Given the description of an element on the screen output the (x, y) to click on. 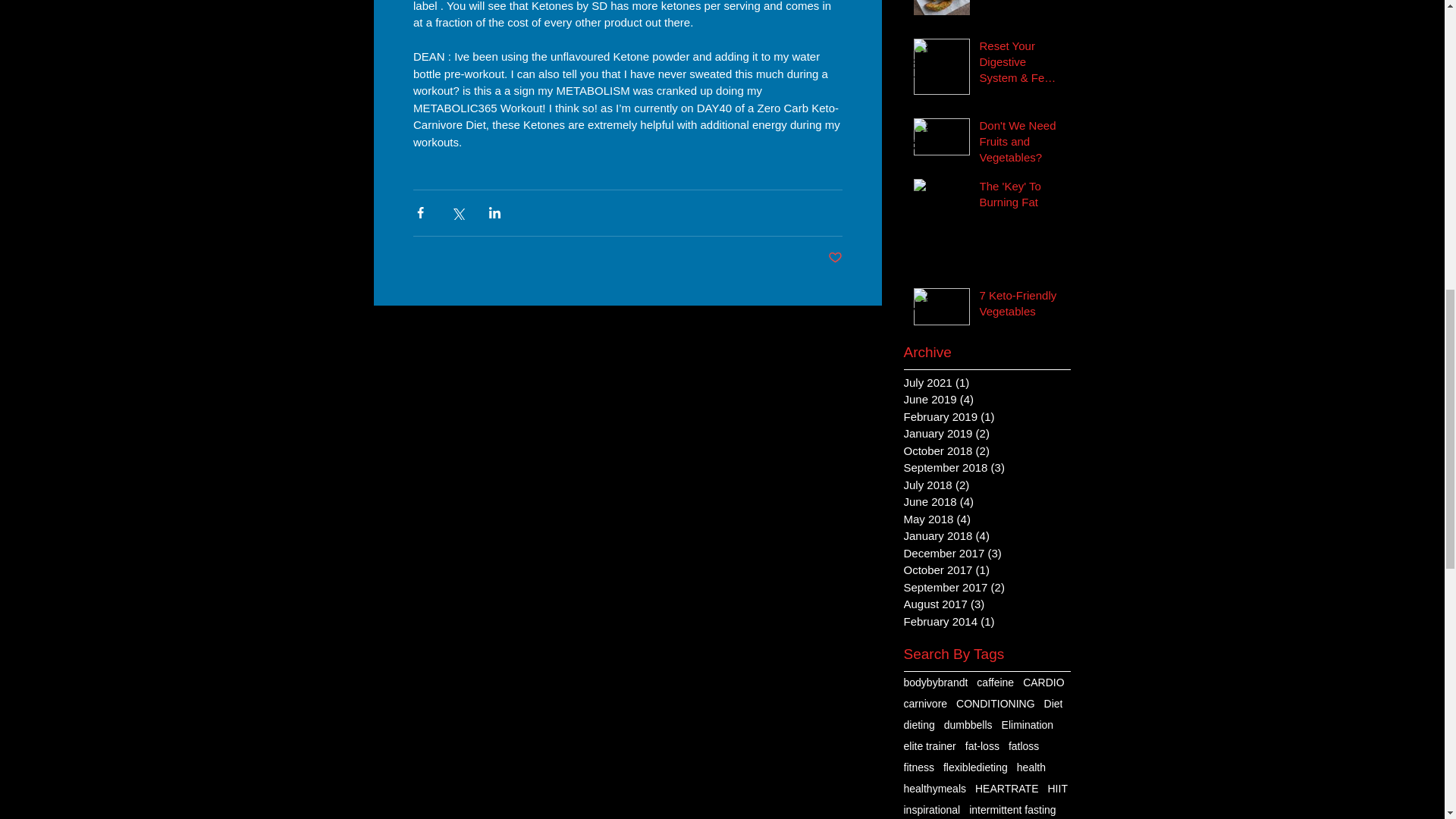
The 'Key' To Burning Fat (1020, 197)
Don't We Need Fruits and Vegetables? (1020, 144)
Post not marked as liked (835, 258)
7 Keto-Friendly Vegetables (1020, 306)
